Given the description of an element on the screen output the (x, y) to click on. 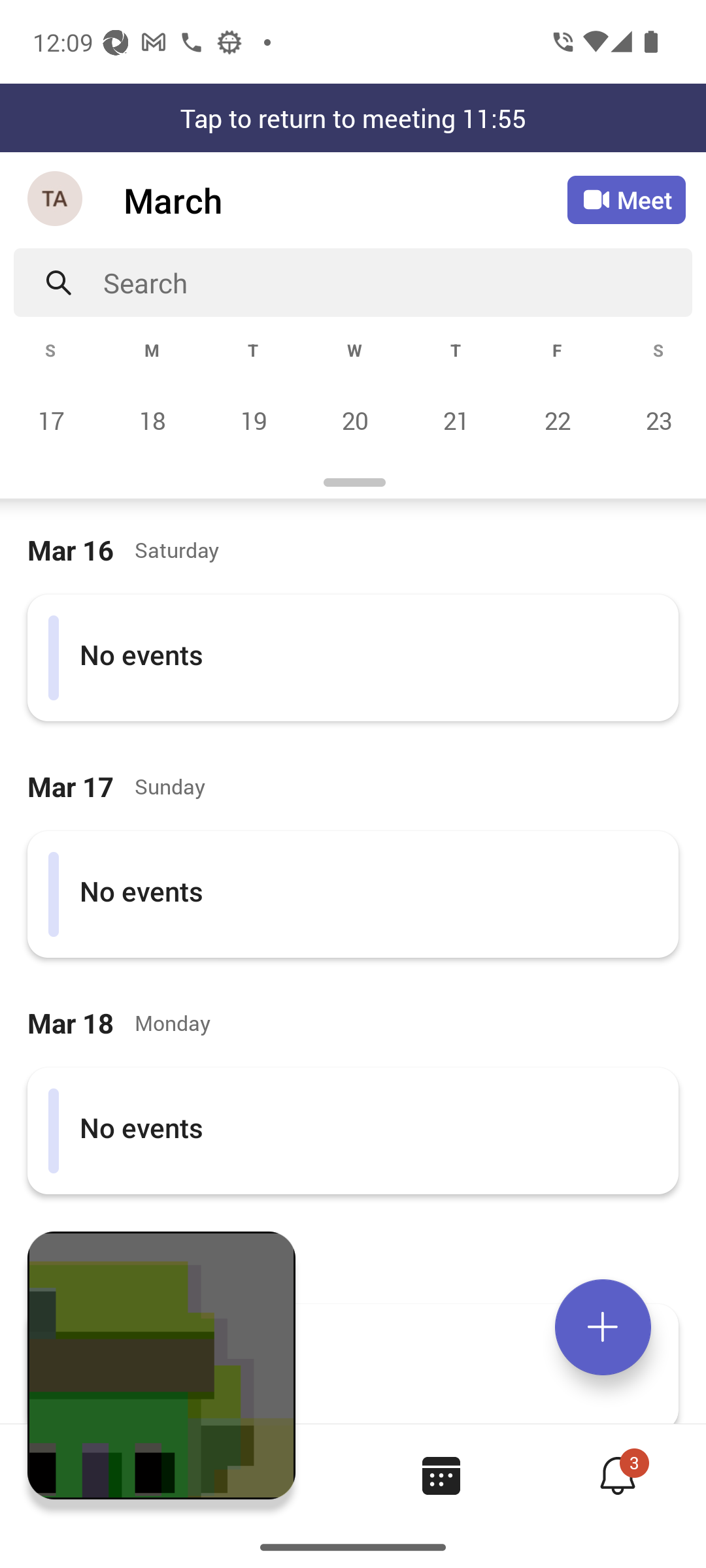
Tap to return to meeting 11:55 (353, 117)
Navigation (56, 199)
Meet Meet now or join with an ID (626, 199)
March March Calendar Agenda View (345, 199)
Search (397, 281)
Sunday, March 17 17 (50, 420)
Monday, March 18 18 (151, 420)
Tuesday, March 19 19 (253, 420)
Wednesday, March 20 20 (354, 420)
Thursday, March 21 21 (455, 420)
Friday, March 22 22 (556, 420)
Saturday, March 23 23 (656, 420)
Expand meetings menu (602, 1327)
Calendar tab, 3 of 4 (441, 1475)
Activity tab,4 of 4, not selected, 3 new 3 (617, 1475)
